Given the description of an element on the screen output the (x, y) to click on. 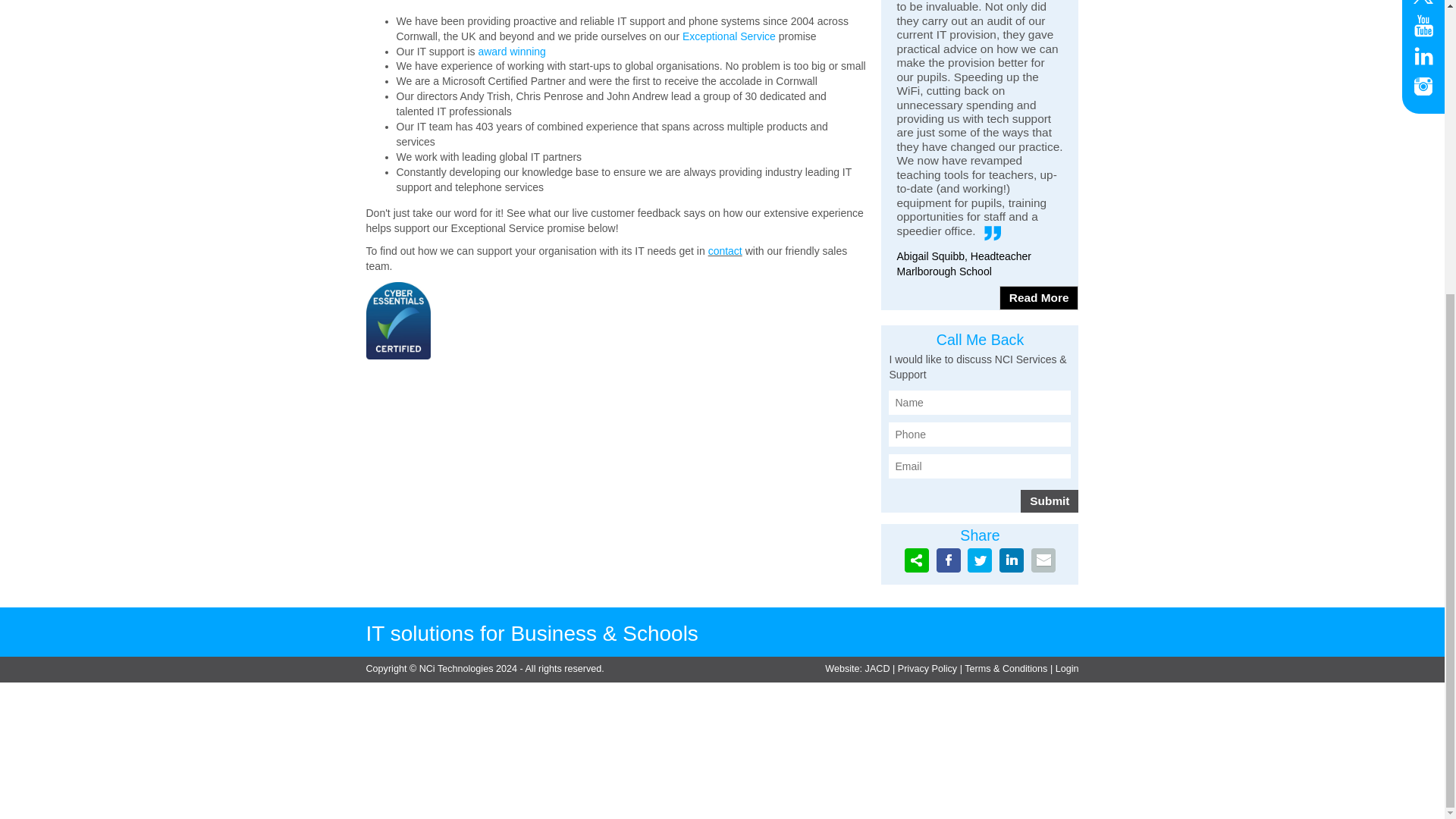
Follow us on linkedin (1422, 55)
Follow us on youtube (1422, 25)
Follow us on twitter (1422, 2)
Follow us on instagram (1422, 86)
Website by Joe Armstrong (876, 668)
